Given the description of an element on the screen output the (x, y) to click on. 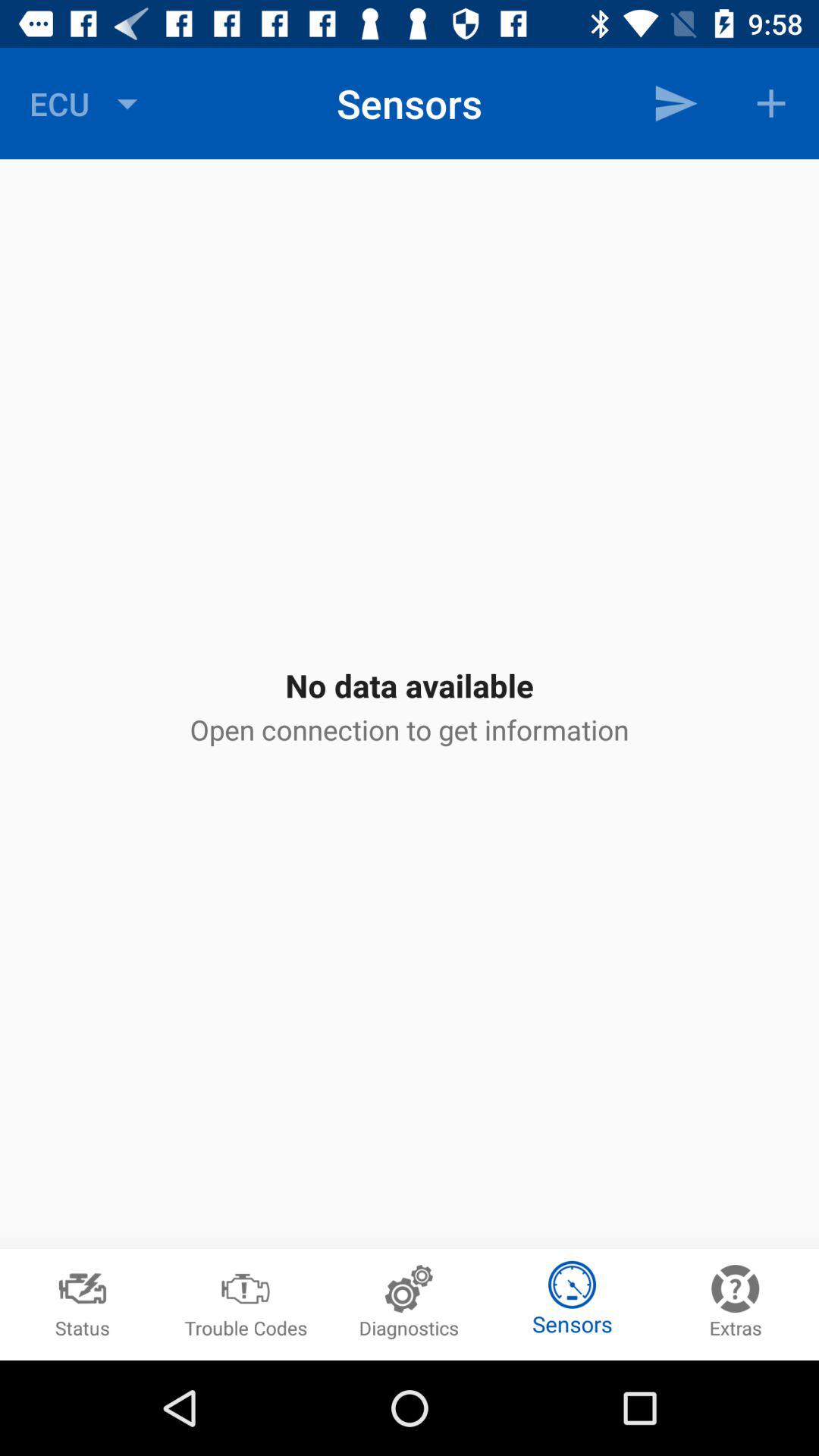
tap the item above the open connection to icon (675, 103)
